Given the description of an element on the screen output the (x, y) to click on. 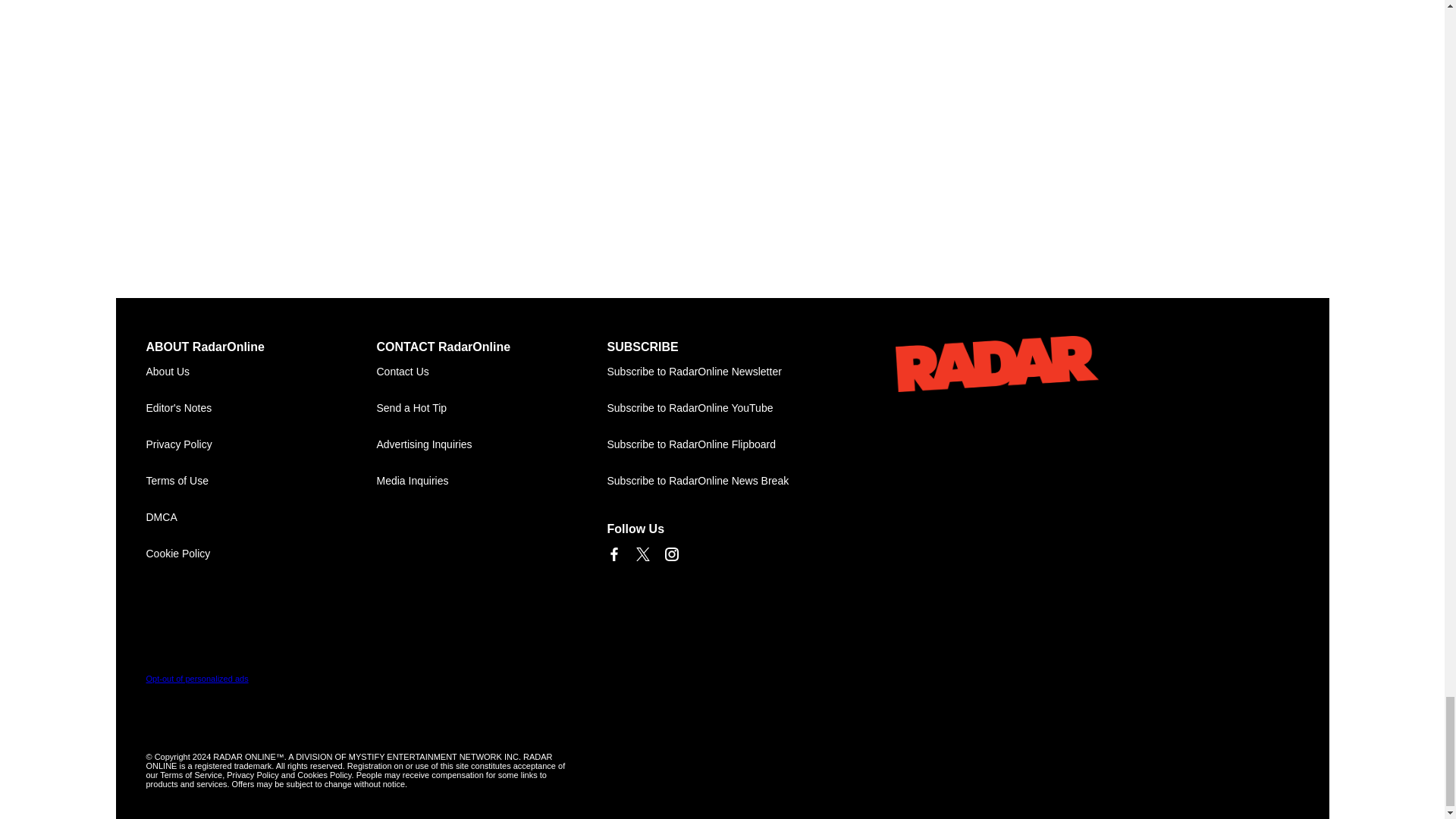
Send a Hot Tip (491, 408)
Media Inquiries (491, 481)
Privacy Policy (260, 444)
Cookie Policy (260, 554)
Editor's Notes (260, 408)
Advertising Inquiries (491, 444)
Subscribe (722, 371)
Link to Facebook (613, 554)
About Us (260, 371)
Contact Us (491, 371)
